Given the description of an element on the screen output the (x, y) to click on. 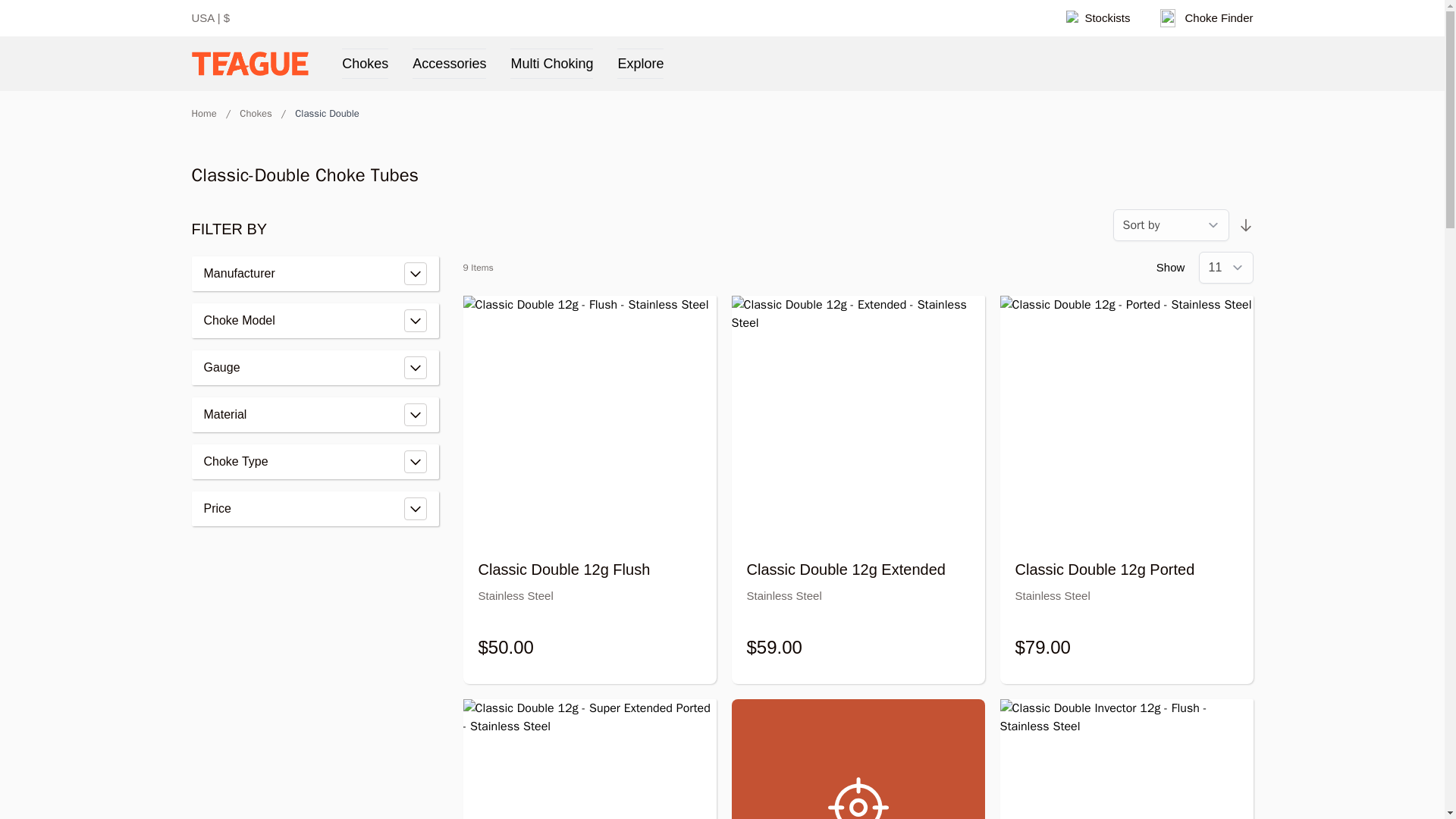
Stockists (1097, 18)
Choke Finder (1206, 18)
